Given the description of an element on the screen output the (x, y) to click on. 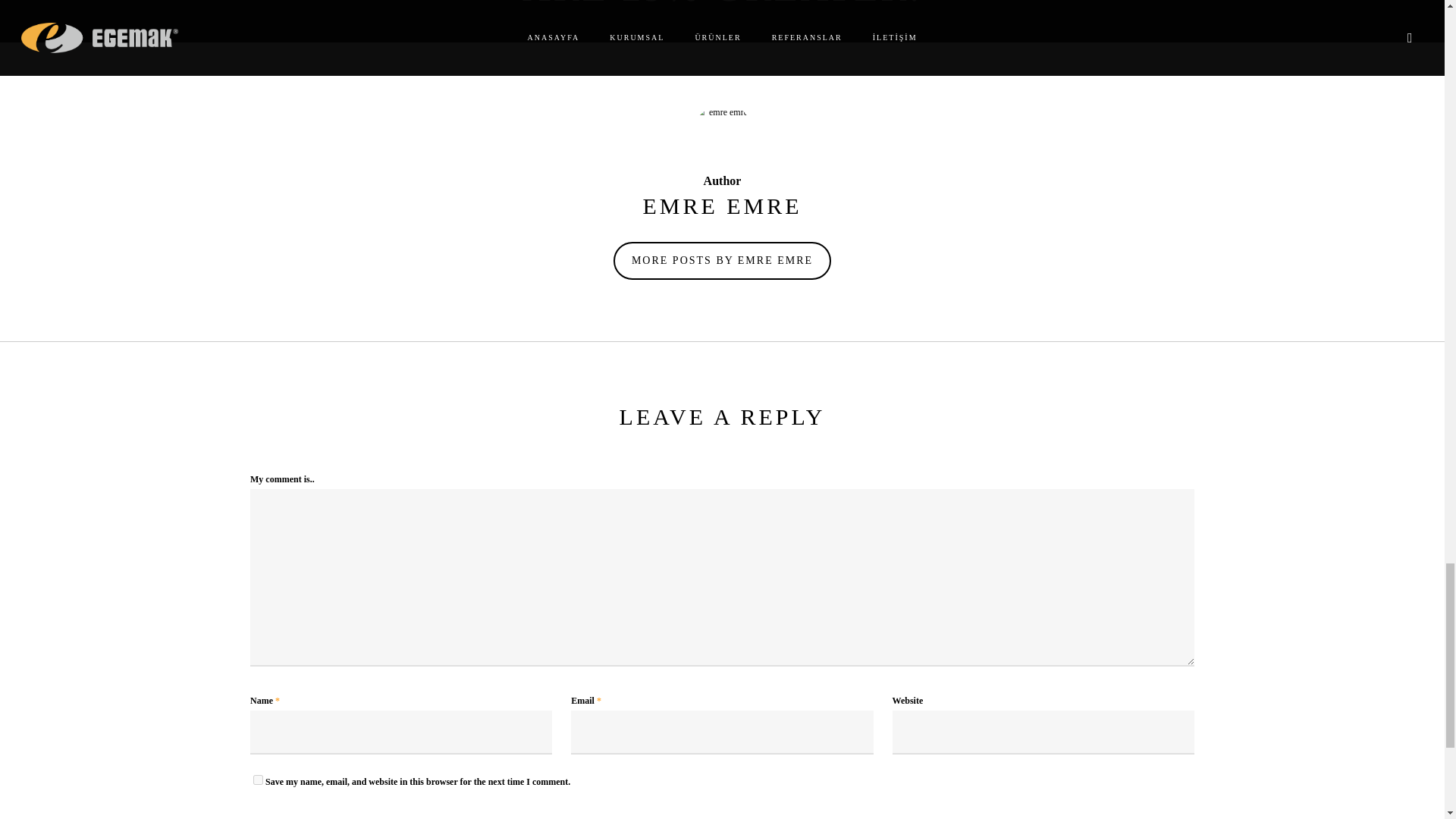
yes (258, 779)
MORE POSTS BY EMRE EMRE (721, 260)
